Given the description of an element on the screen output the (x, y) to click on. 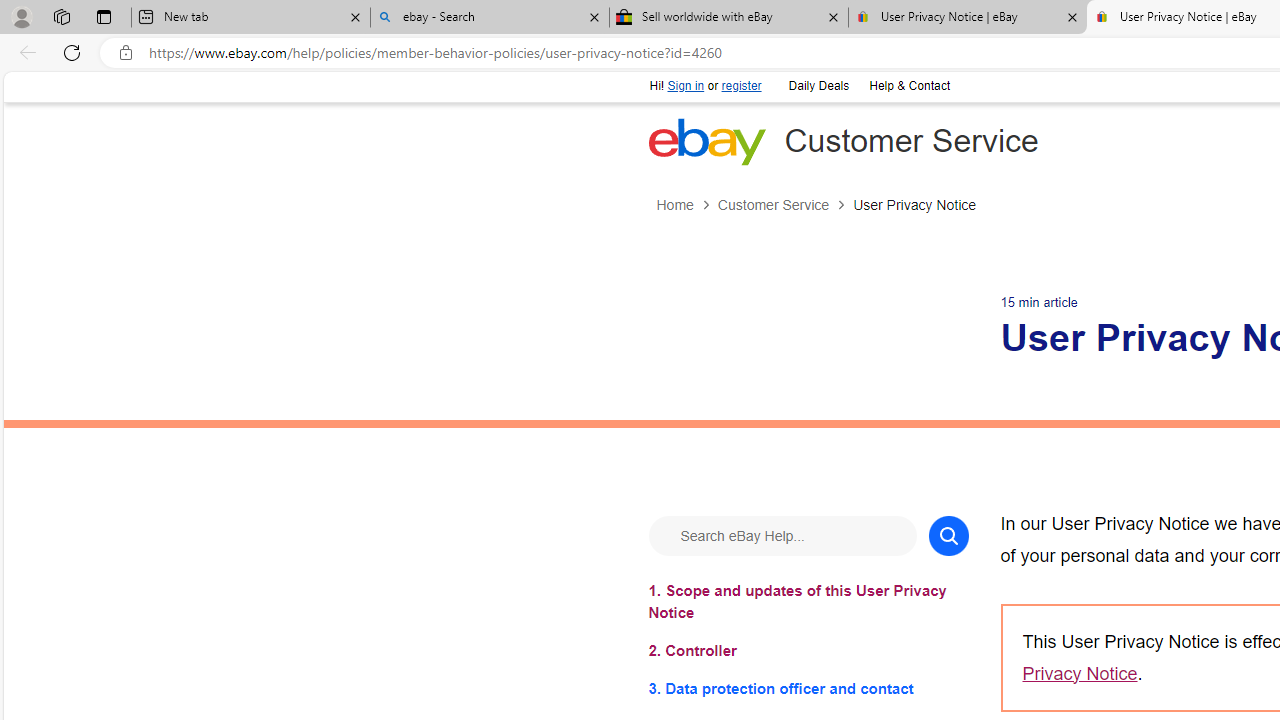
eBay Home (706, 141)
register (740, 85)
